Given the description of an element on the screen output the (x, y) to click on. 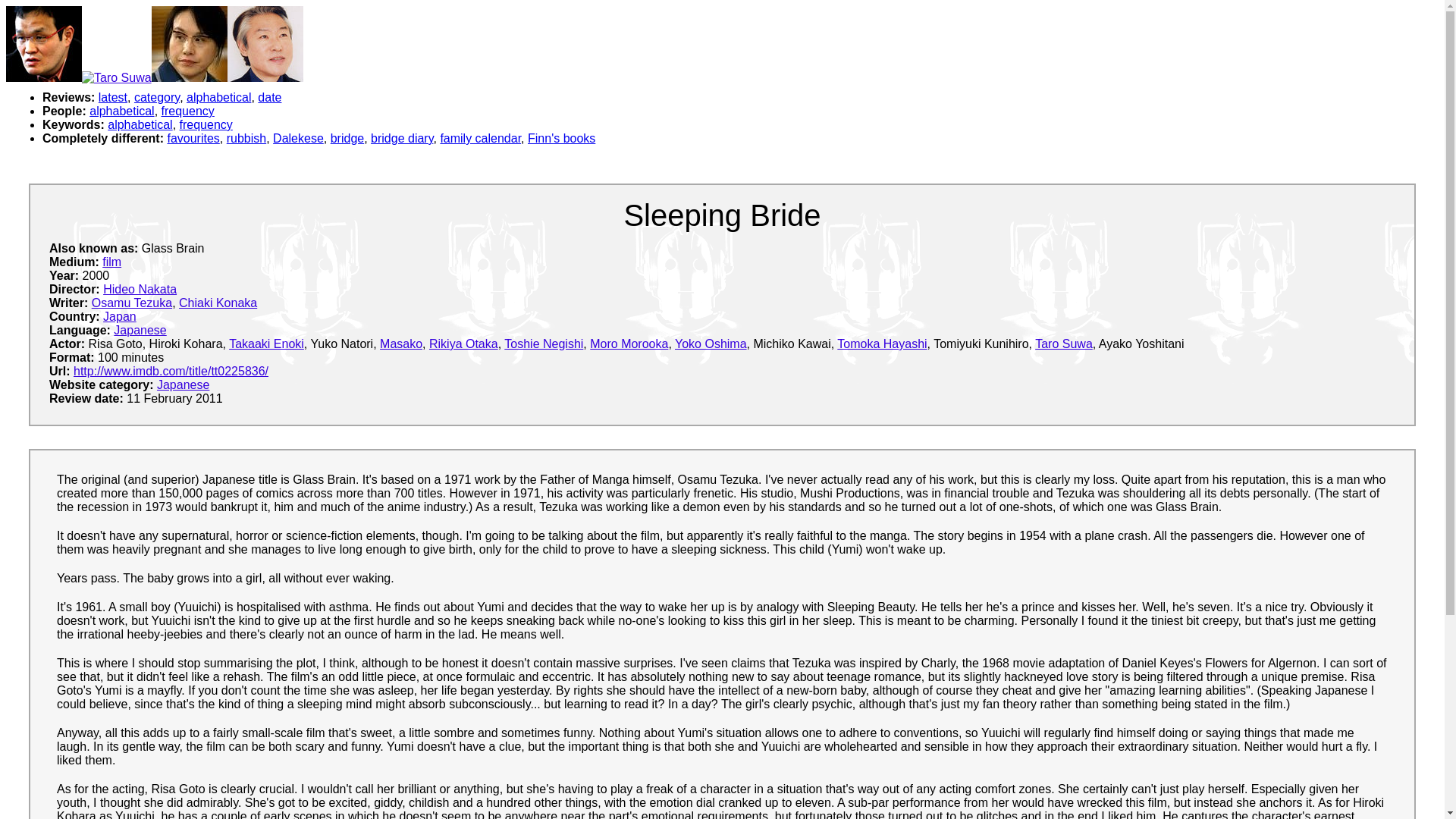
Hideo Nakata (139, 288)
Japanese (139, 329)
Tomoka Hayashi (881, 343)
Masako (401, 343)
Japan (119, 316)
Rikiya Otaka (463, 343)
film (110, 261)
Toshie Negishi (543, 343)
Chiaki Konaka (218, 302)
Japanese (183, 384)
Taro Suwa (1064, 343)
Yoko Oshima (710, 343)
Takaaki Enoki (266, 343)
Osamu Tezuka (131, 302)
Moro Morooka (628, 343)
